Given the description of an element on the screen output the (x, y) to click on. 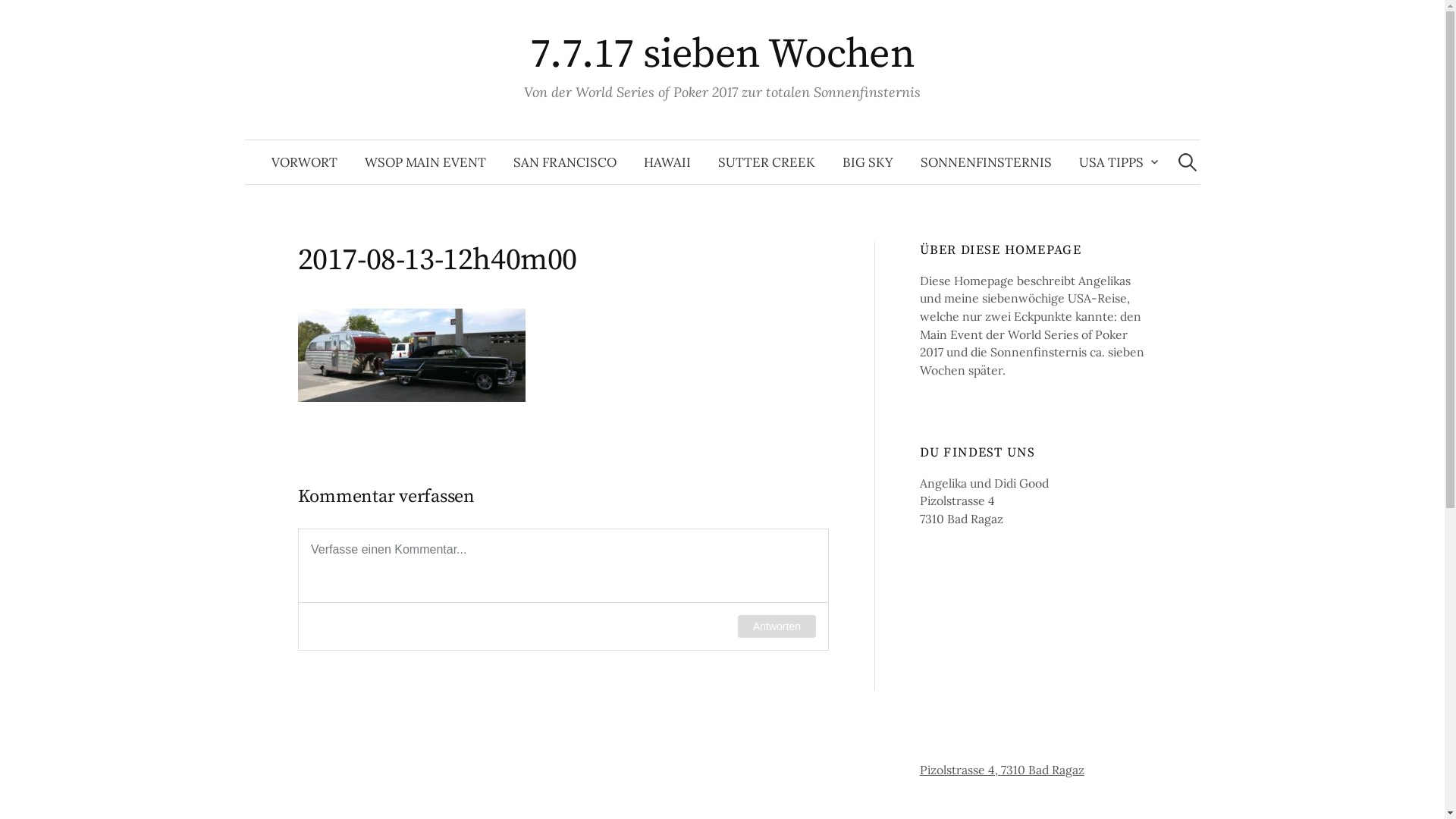
WSOP MAIN EVENT Element type: text (424, 162)
Einbetten von Google Maps Element type: hover (1033, 674)
7.7.17 sieben Wochen Element type: text (722, 54)
BIG SKY Element type: text (867, 162)
Suche Element type: text (18, 18)
SUTTER CREEK Element type: text (765, 162)
SONNENFINSTERNIS Element type: text (985, 162)
Pizolstrasse 4, 7310 Bad Ragaz Element type: text (1001, 769)
VORWORT Element type: text (304, 162)
USA TIPPS Element type: text (1114, 162)
Kommentarformular Element type: hover (562, 589)
SAN FRANCISCO Element type: text (563, 162)
HAWAII Element type: text (666, 162)
